Given the description of an element on the screen output the (x, y) to click on. 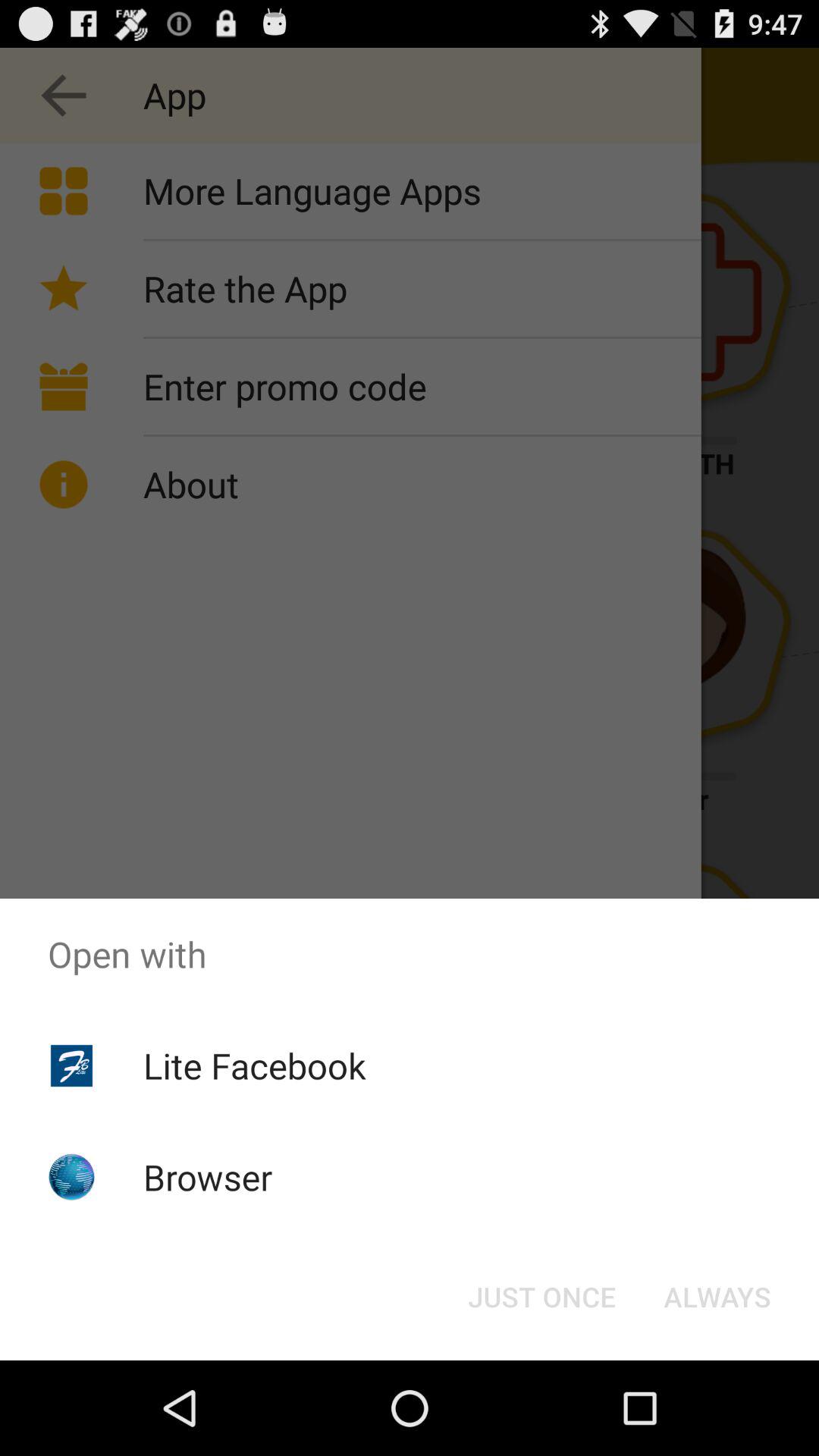
press the icon next to just once button (717, 1296)
